Given the description of an element on the screen output the (x, y) to click on. 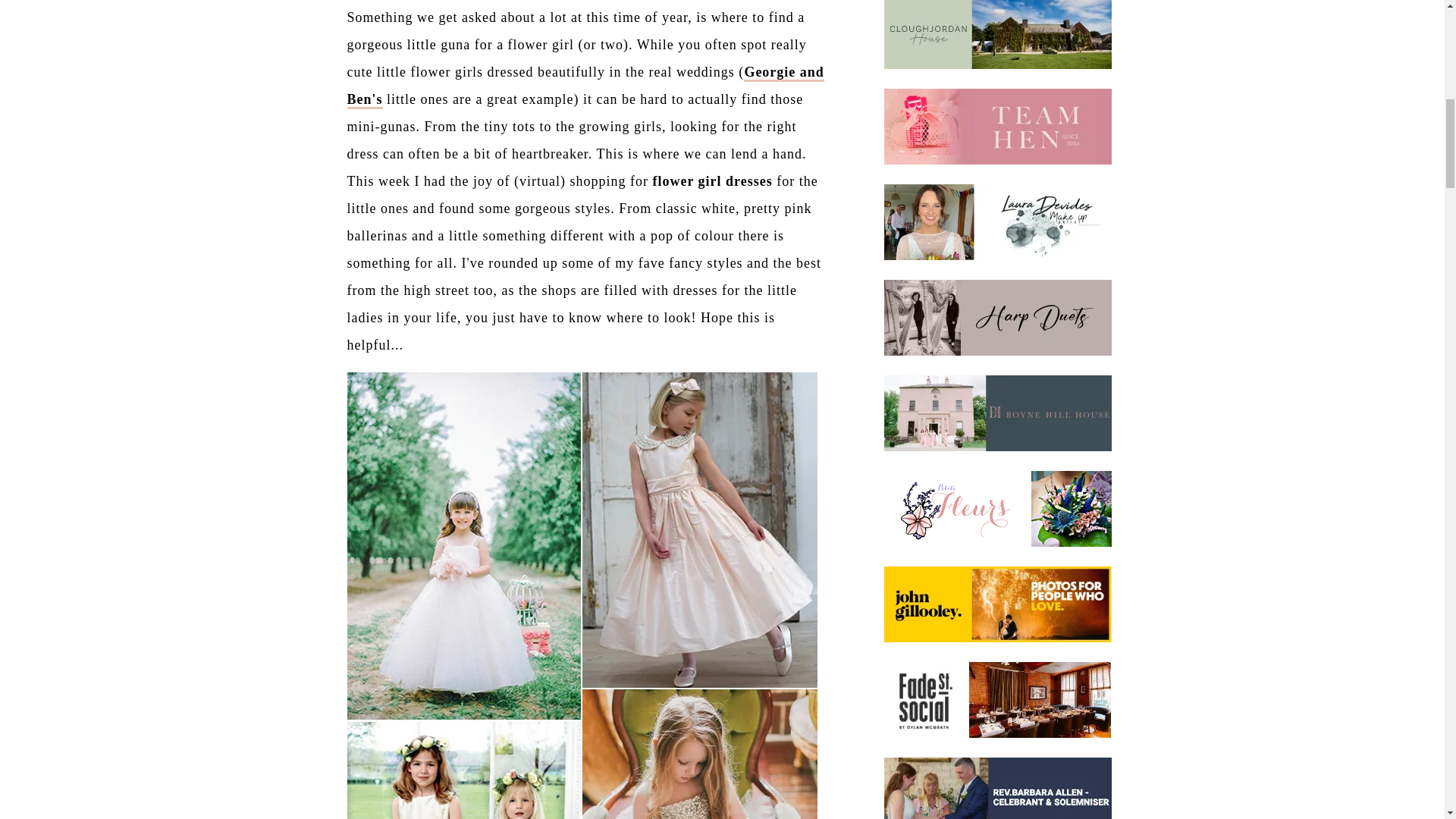
a vintage country house wedding by jess petrie (585, 86)
